Given the description of an element on the screen output the (x, y) to click on. 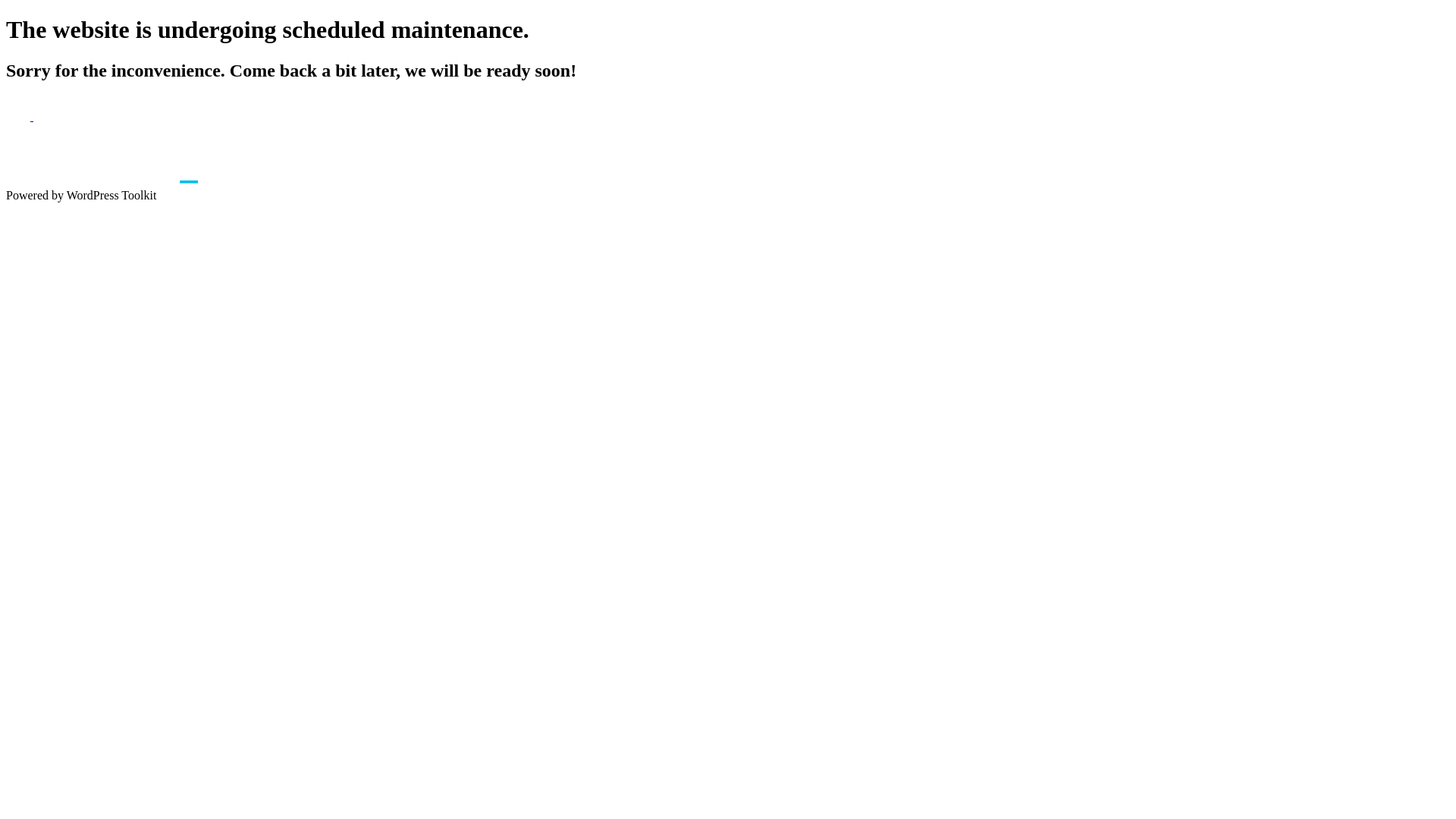
Facebook Element type: hover (19, 115)
Twitter Element type: hover (45, 115)
